Given the description of an element on the screen output the (x, y) to click on. 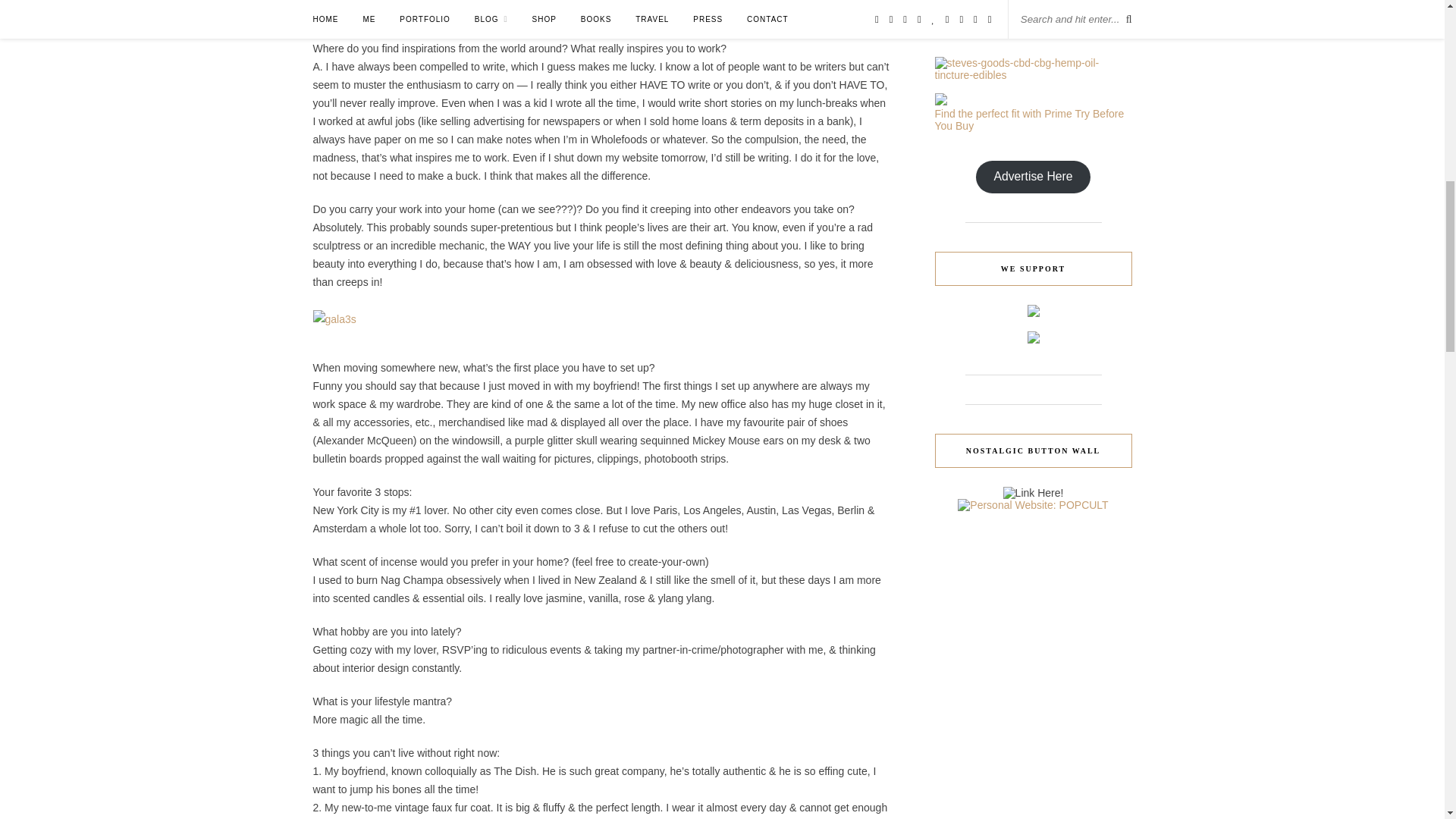
gala3s (334, 318)
